Given the description of an element on the screen output the (x, y) to click on. 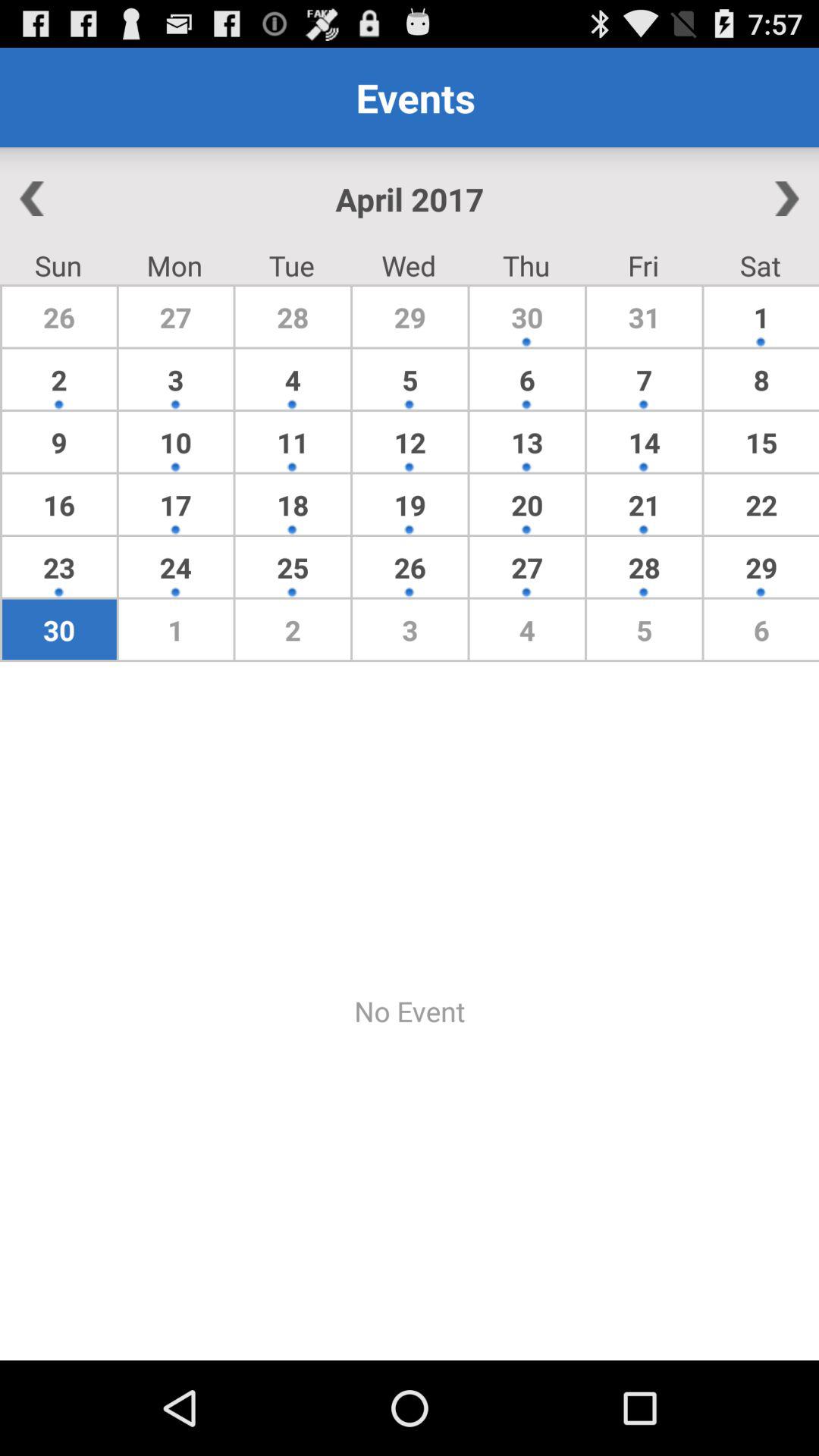
open the item above 23 (59, 504)
